Given the description of an element on the screen output the (x, y) to click on. 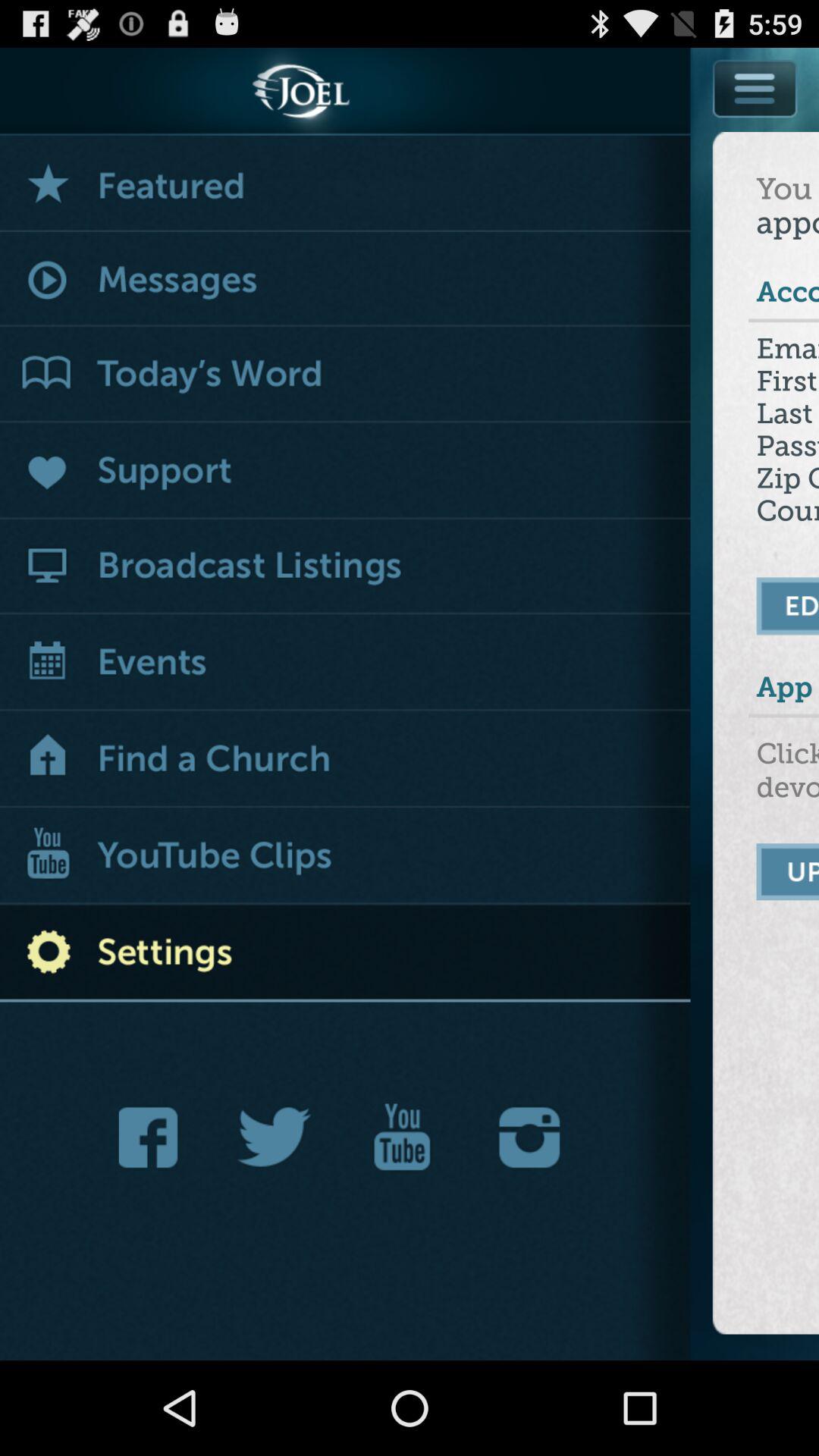
special events (345, 183)
